Given the description of an element on the screen output the (x, y) to click on. 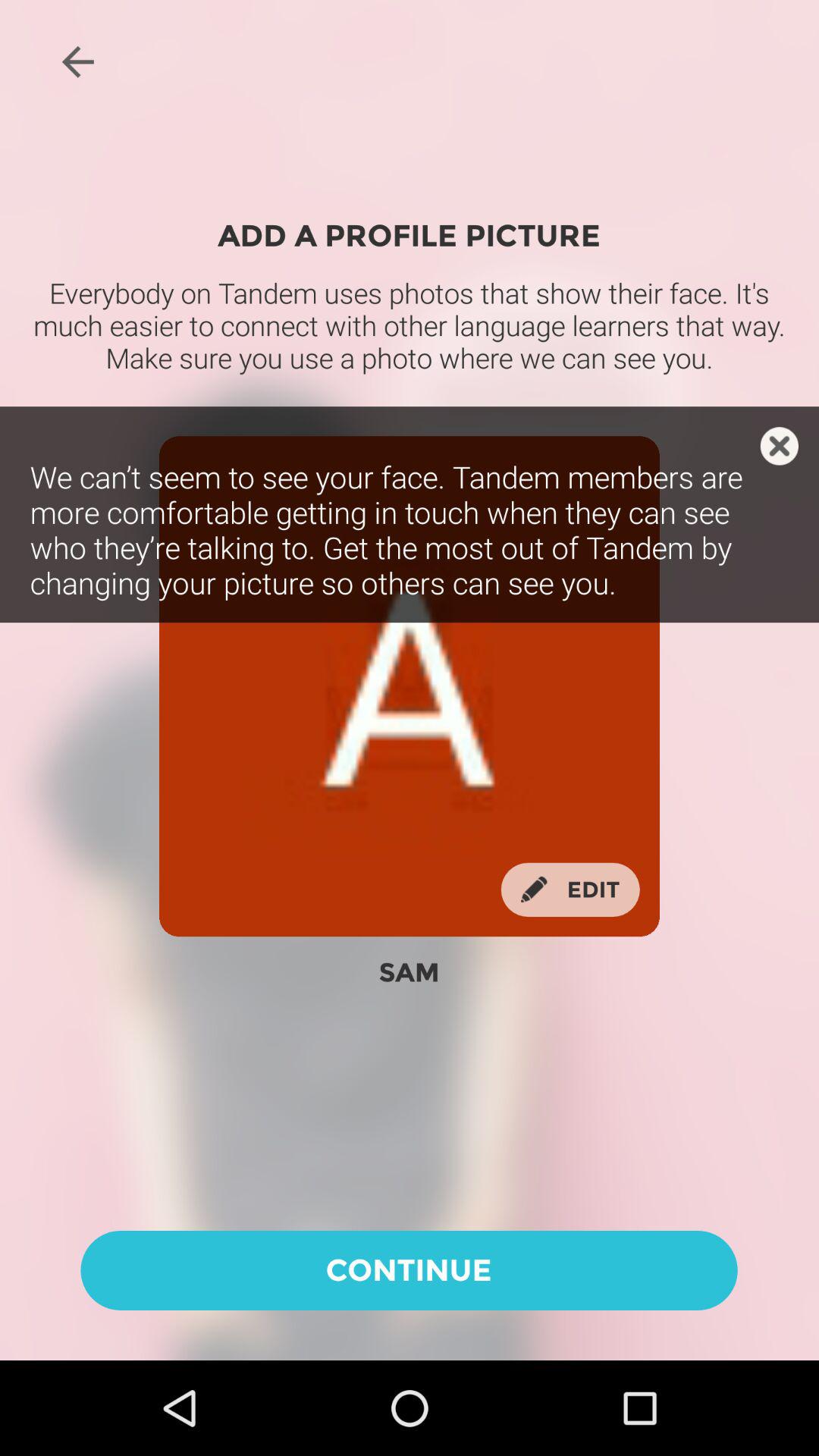
dismiss pop-up message (779, 445)
